Given the description of an element on the screen output the (x, y) to click on. 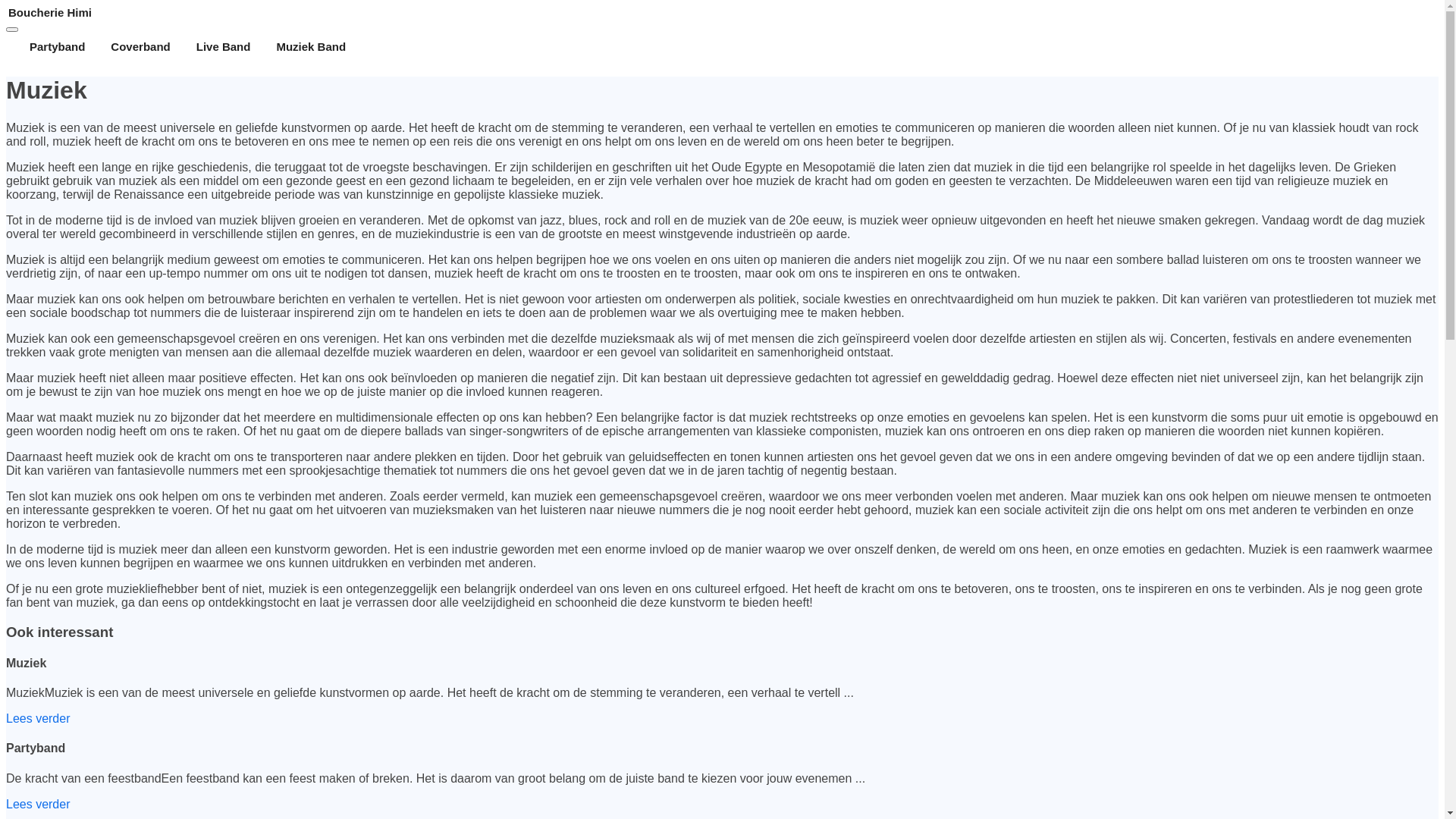
Boucherie Himi Element type: text (722, 12)
Live Band Element type: text (223, 46)
Muziek Band Element type: text (310, 46)
Partyband Element type: text (57, 46)
Coverband Element type: text (140, 46)
Lees verder Element type: text (38, 803)
Lees verder Element type: text (38, 718)
